Given the description of an element on the screen output the (x, y) to click on. 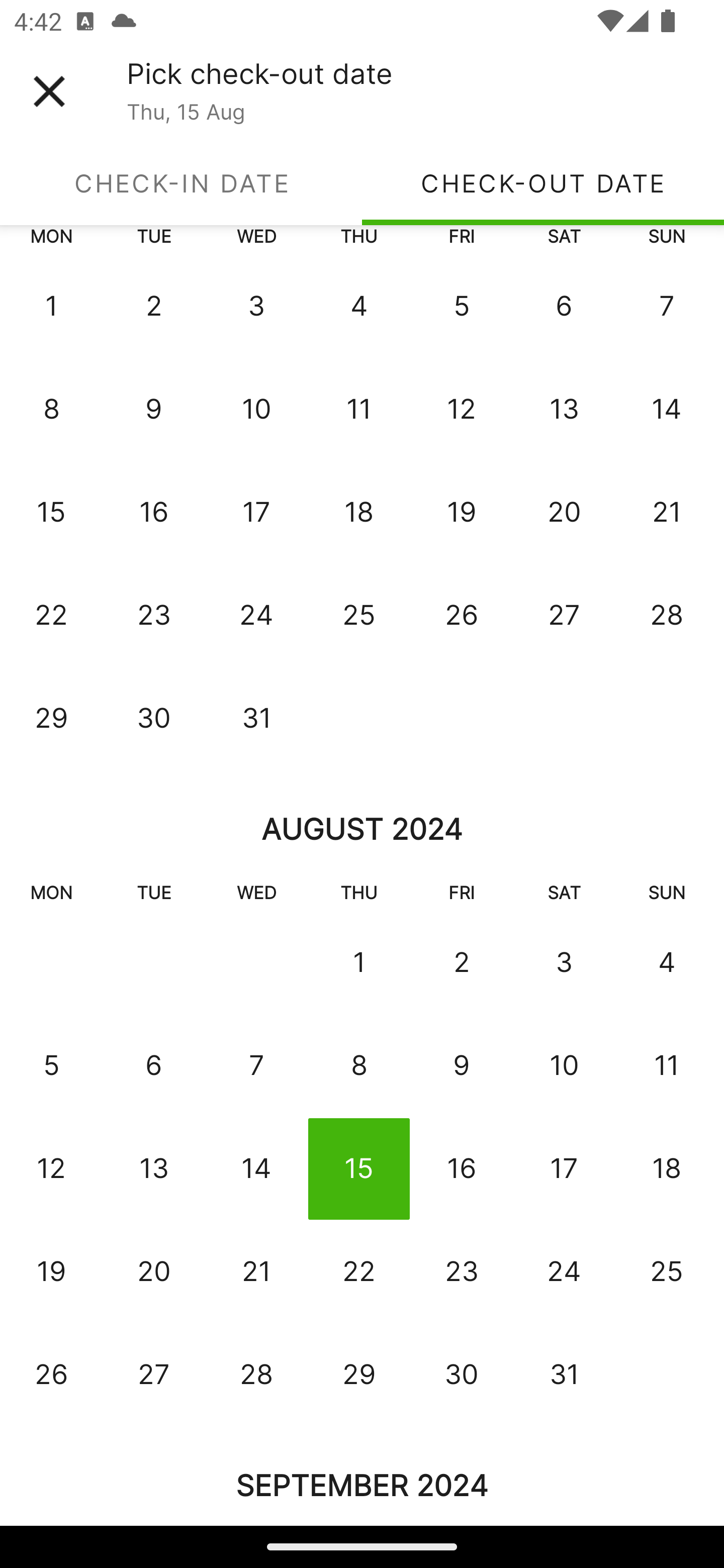
Check-in Date CHECK-IN DATE (181, 183)
